Given the description of an element on the screen output the (x, y) to click on. 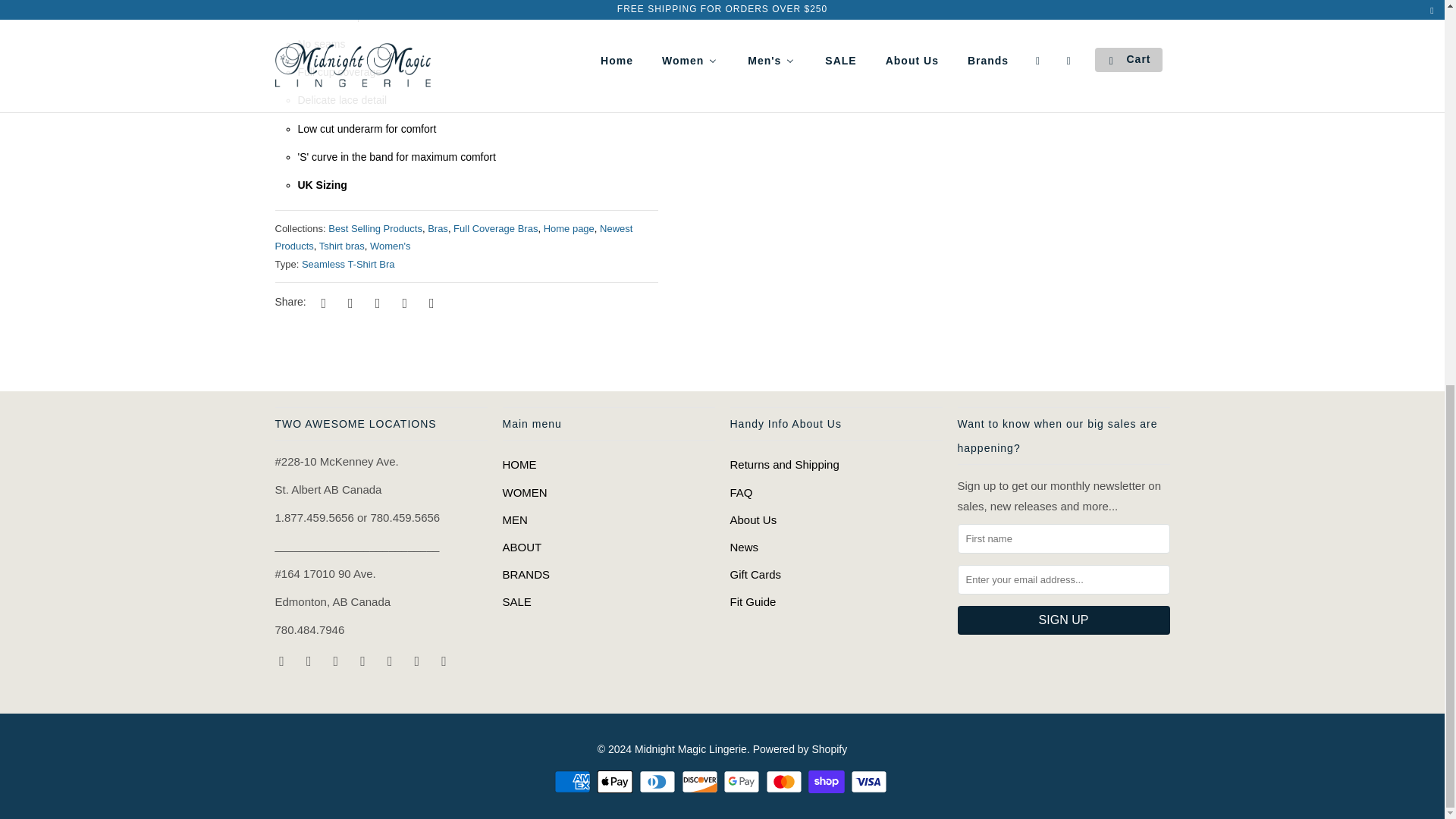
Full Coverage Bras (494, 228)
Tshirt bras (341, 245)
Newest Products (453, 236)
Sign Up (1062, 620)
Bras (438, 228)
Seamless T-Shirt Bra (347, 264)
Home page (568, 228)
Women's (389, 245)
Best Selling Products (375, 228)
